Given the description of an element on the screen output the (x, y) to click on. 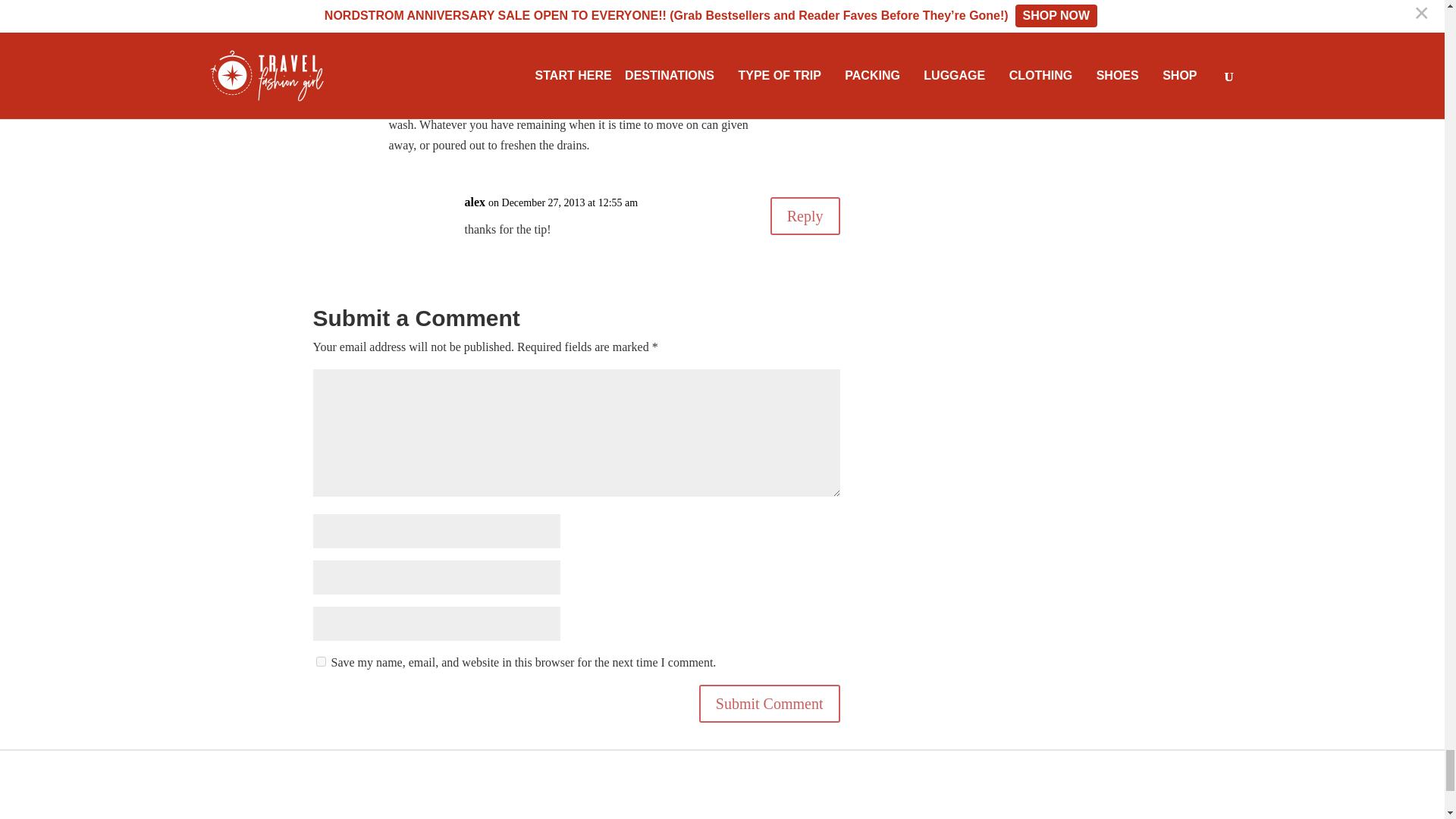
yes (319, 661)
Submit Comment (769, 703)
